Given the description of an element on the screen output the (x, y) to click on. 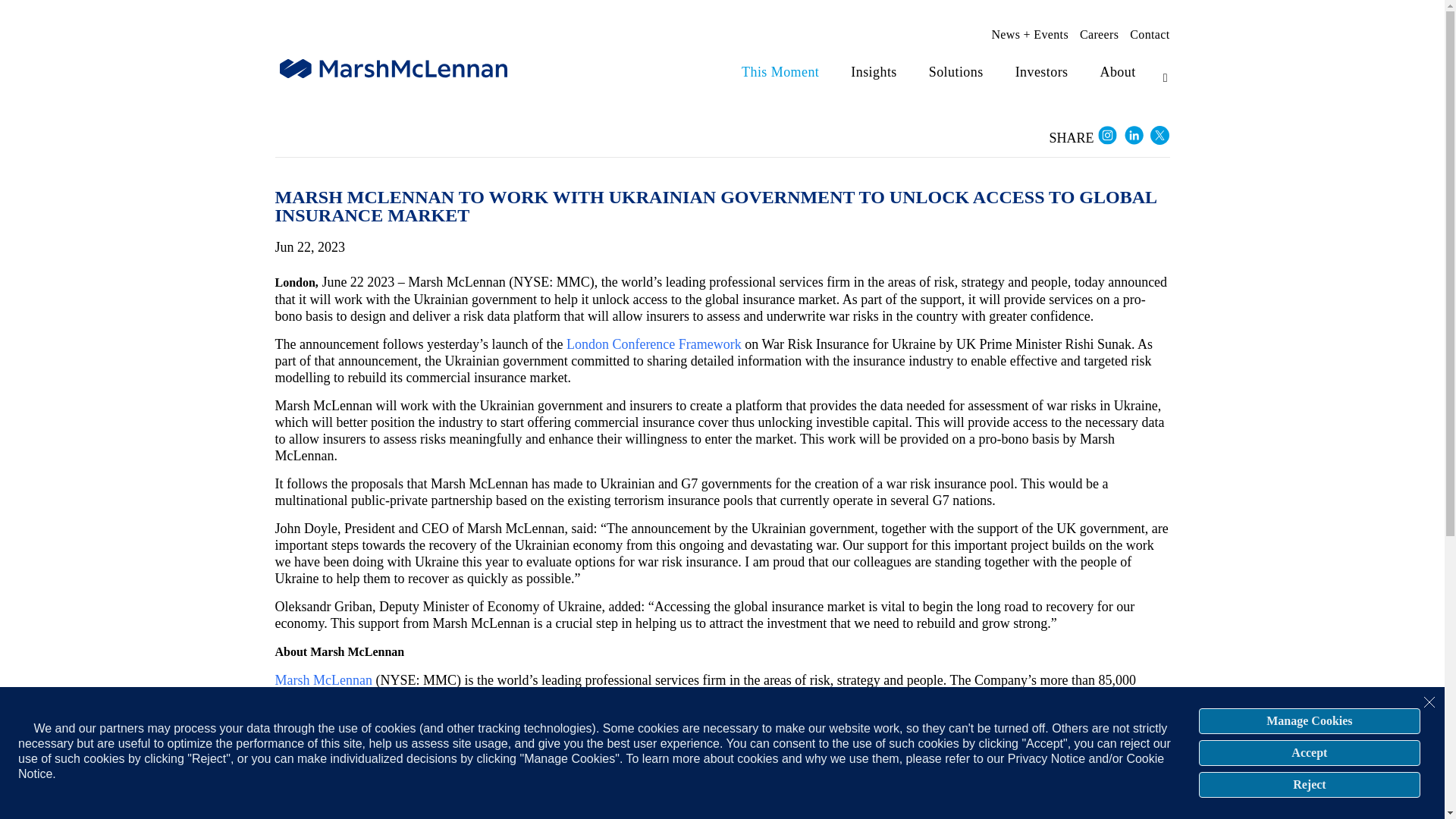
Careers (1099, 34)
Solutions (956, 72)
Accept (1309, 752)
Investors (1041, 72)
Reject (1309, 784)
Insights (873, 72)
This Moment (780, 72)
Manage Cookies (1309, 720)
Contact (1149, 34)
